Given the description of an element on the screen output the (x, y) to click on. 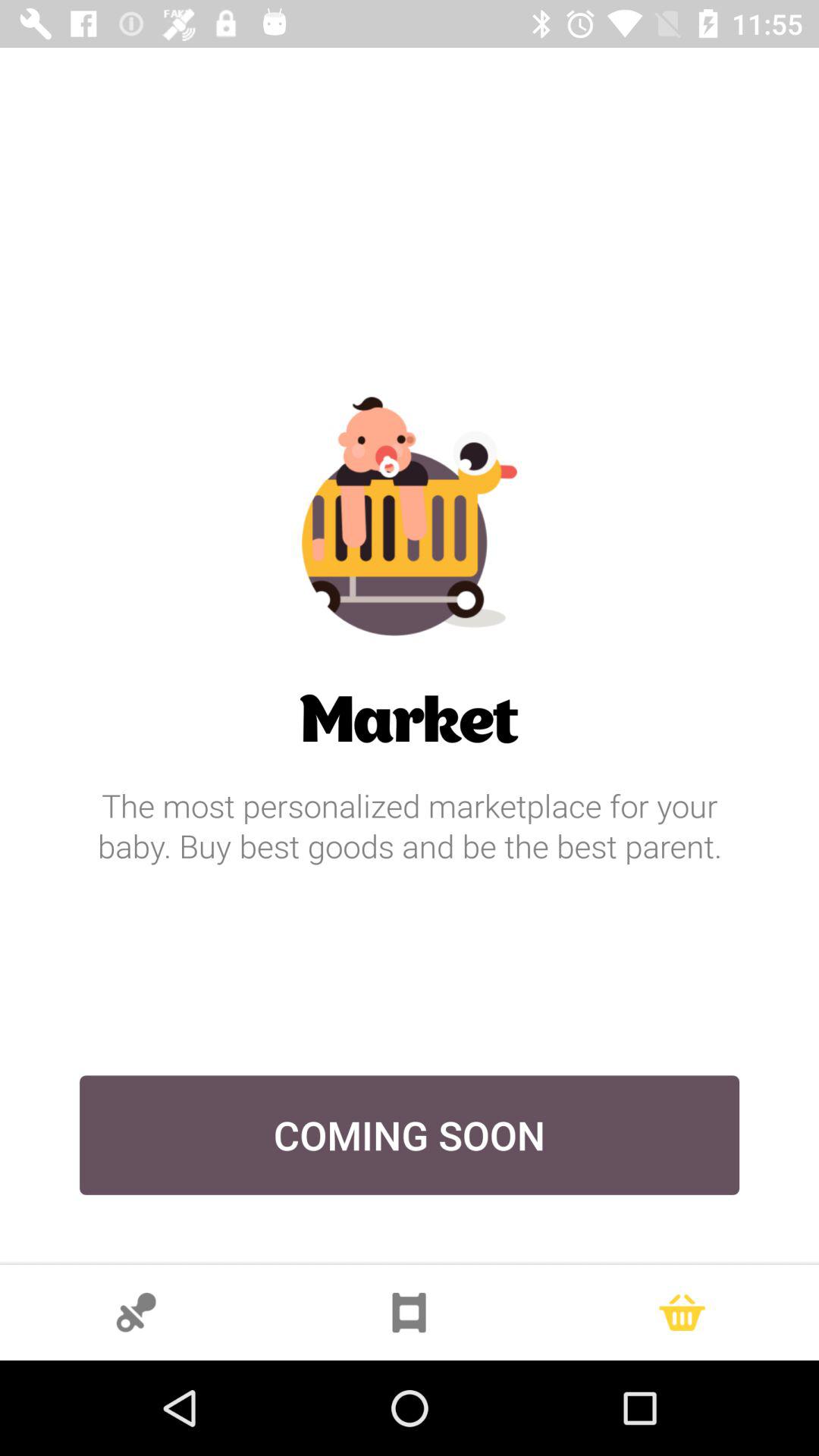
press item below the most personalized icon (409, 1134)
